Given the description of an element on the screen output the (x, y) to click on. 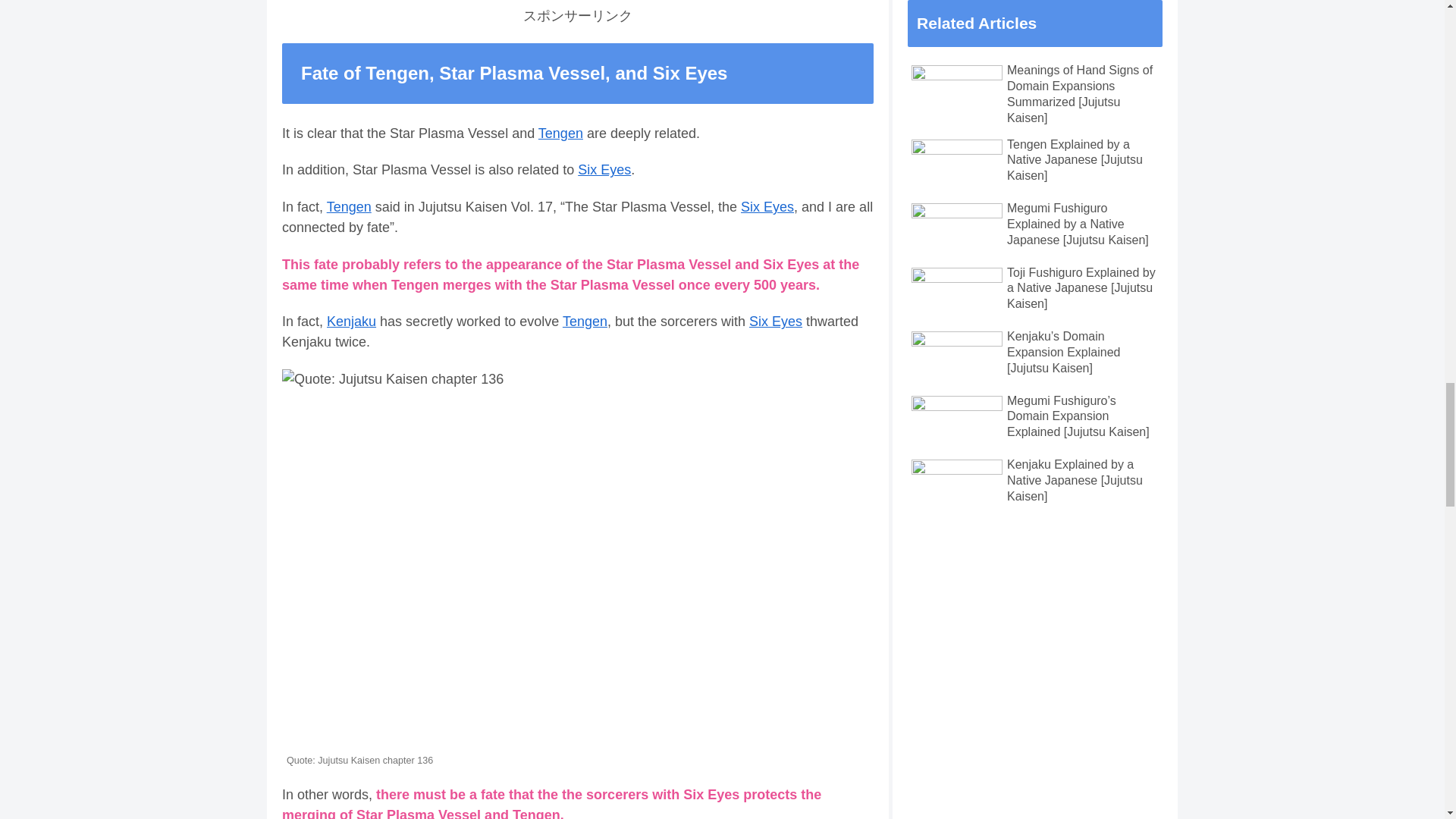
Tengen (348, 206)
Kenjaku (350, 321)
Six Eyes (775, 321)
Six Eyes (604, 169)
Tengen (560, 133)
Tengen (584, 321)
Six Eyes (767, 206)
